Given the description of an element on the screen output the (x, y) to click on. 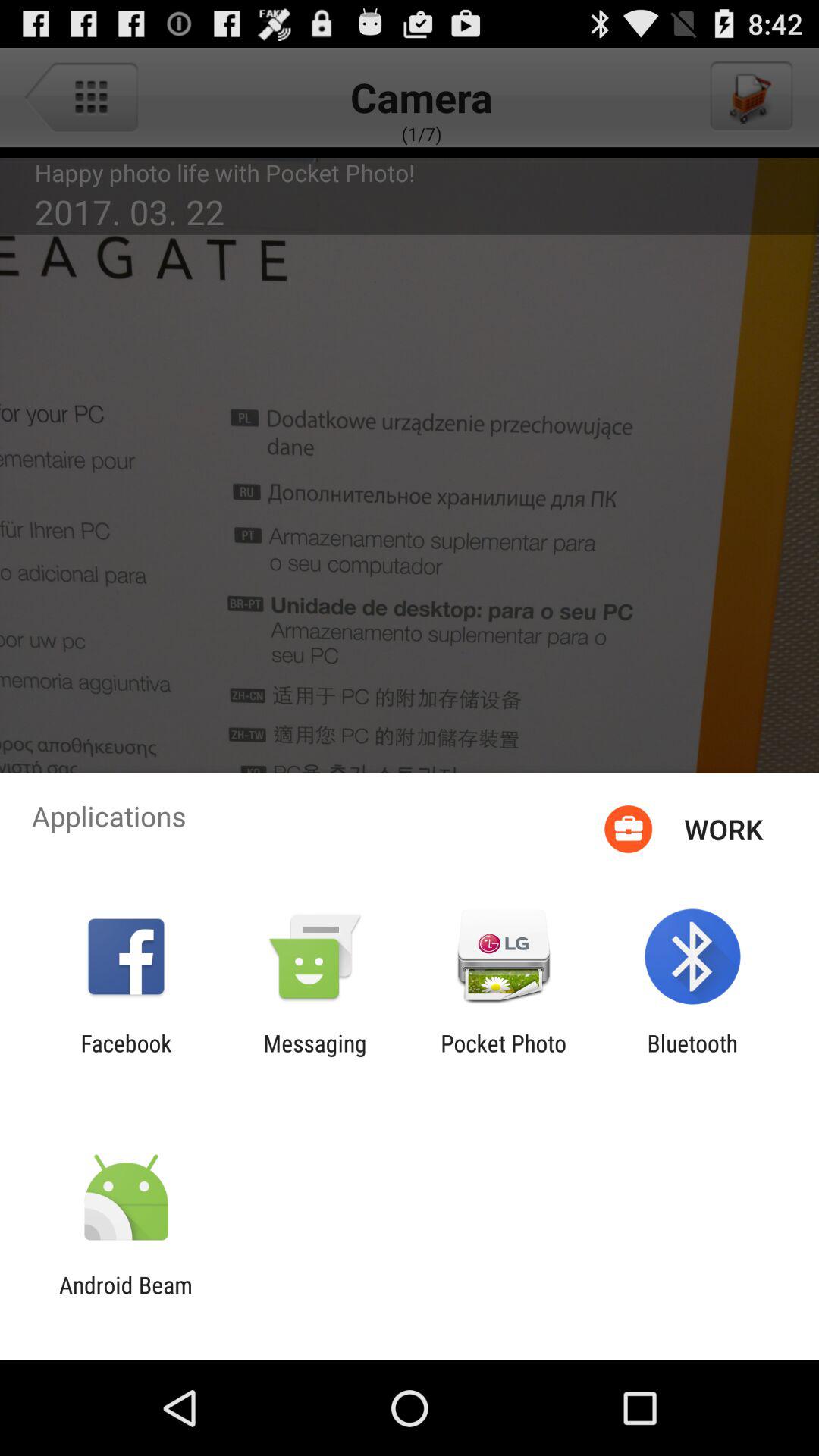
choose the icon next to the pocket photo (692, 1056)
